Given the description of an element on the screen output the (x, y) to click on. 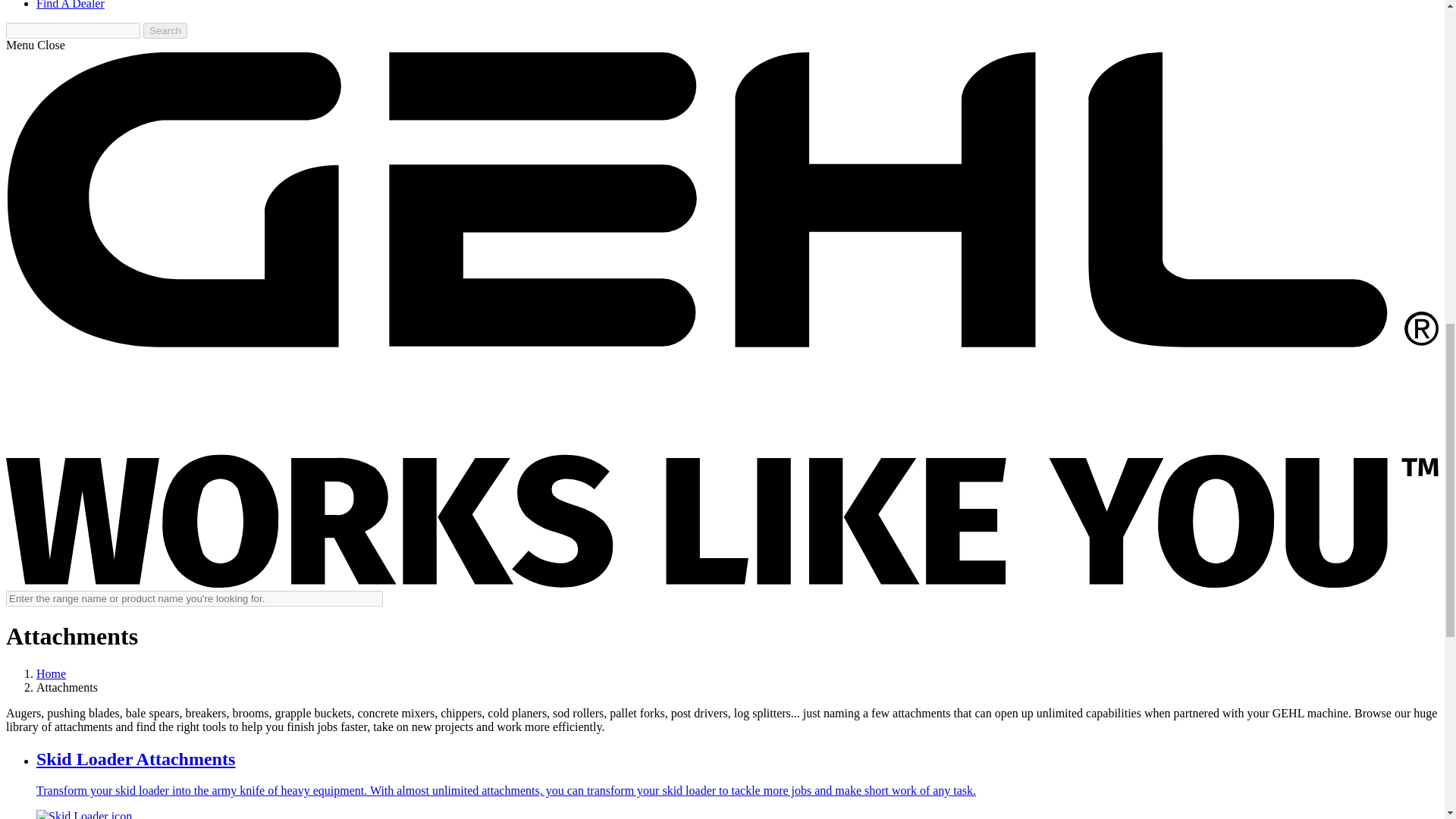
Search (164, 30)
Find a Gehl dealer (70, 4)
Find A Dealer (70, 4)
Home (50, 673)
